Given the description of an element on the screen output the (x, y) to click on. 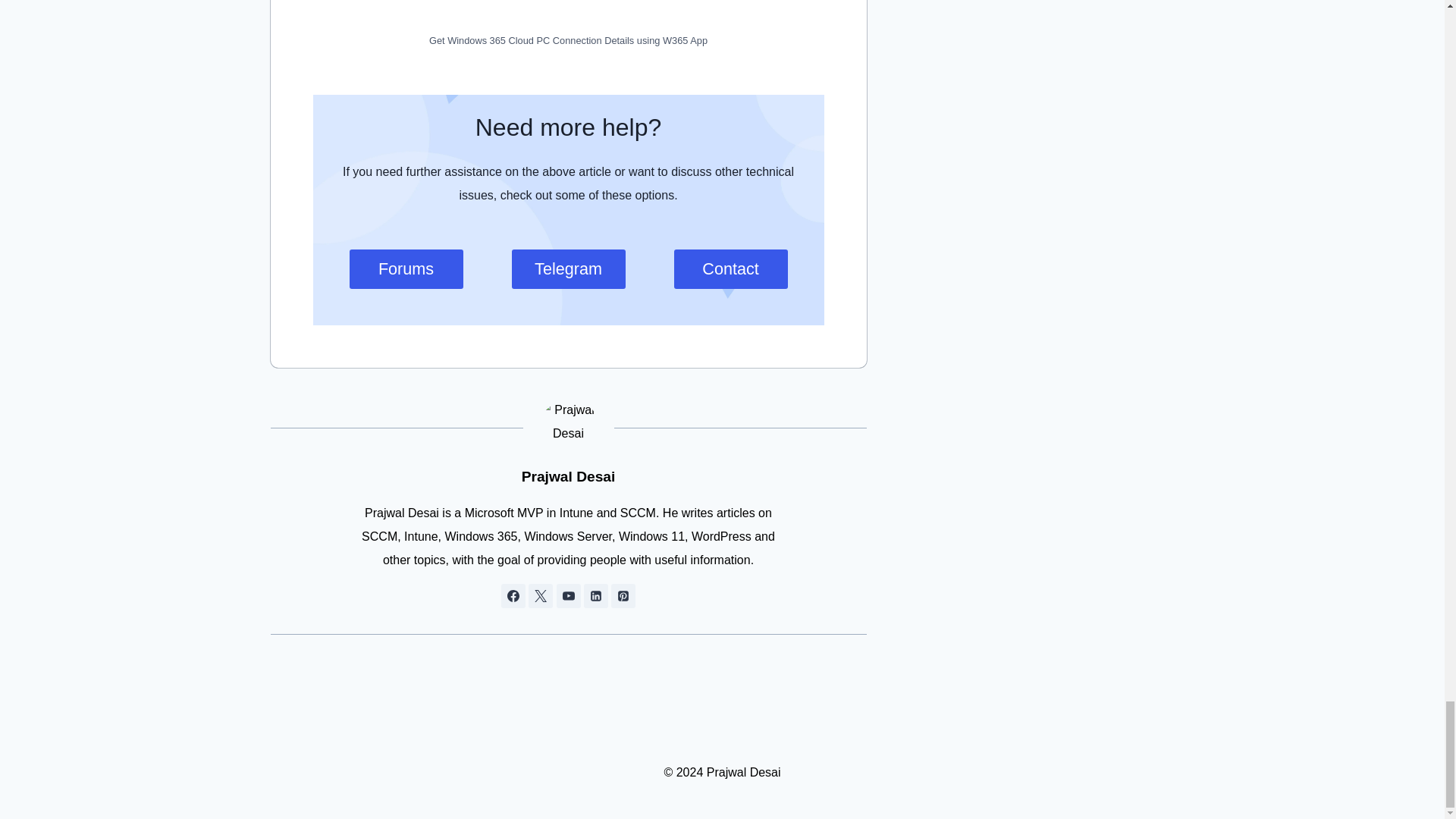
2 Ways to Get Windows 365 Cloud PC Connection Details 5 (567, 11)
Follow Prajwal Desai on Pinterest (622, 595)
Follow Prajwal Desai on Linkedin (595, 595)
Follow Prajwal Desai on Facebook (512, 595)
Follow Prajwal Desai on Youtube (568, 595)
Follow Prajwal Desai on X formerly Twitter (540, 595)
